Given the description of an element on the screen output the (x, y) to click on. 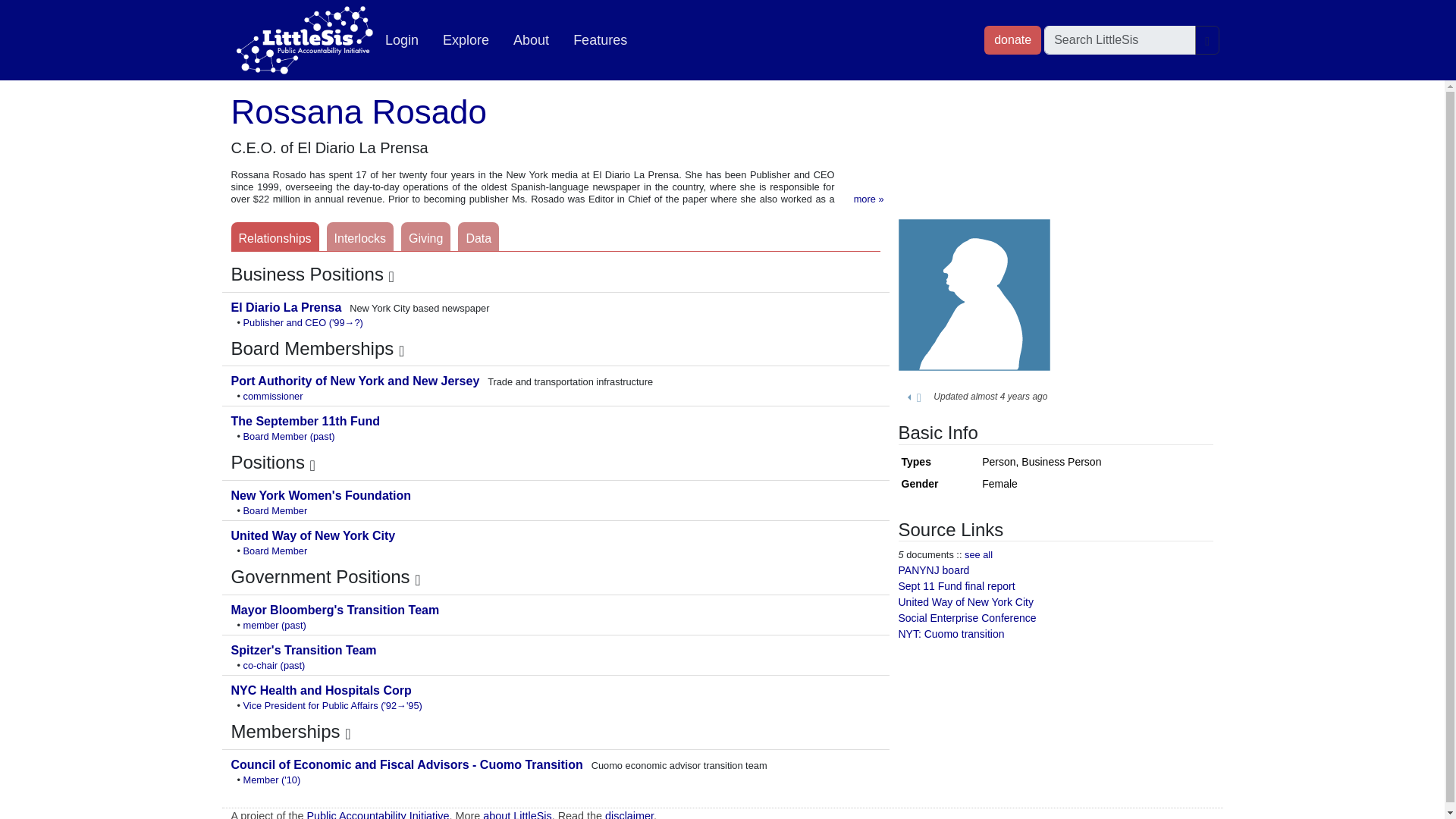
Trade and transportation infrastructure (355, 380)
Features (599, 40)
Explore (465, 40)
New York City based newspaper (286, 307)
Cuomo economic advisor transition team (408, 764)
donate (1012, 39)
Login (401, 40)
About (530, 40)
